Given the description of an element on the screen output the (x, y) to click on. 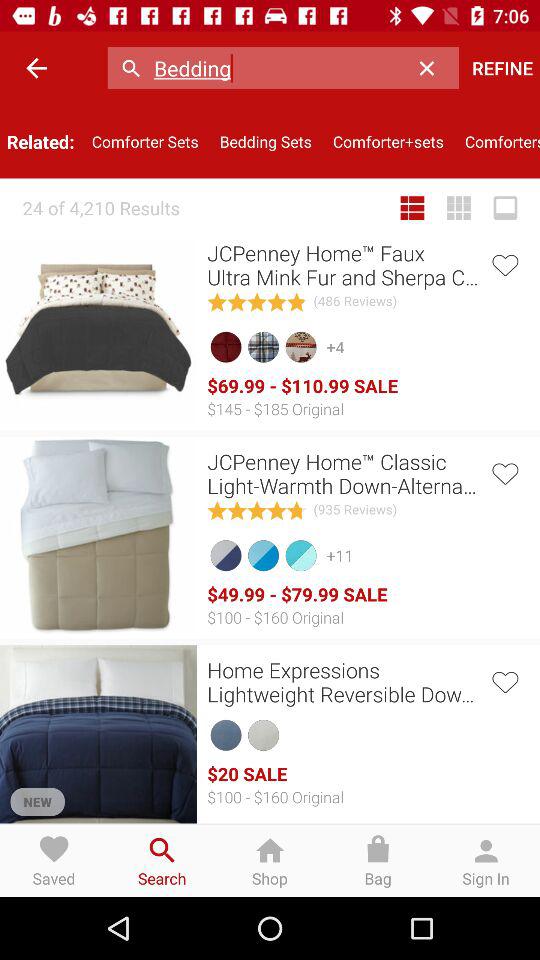
hit the third heart (504, 680)
